Given the description of an element on the screen output the (x, y) to click on. 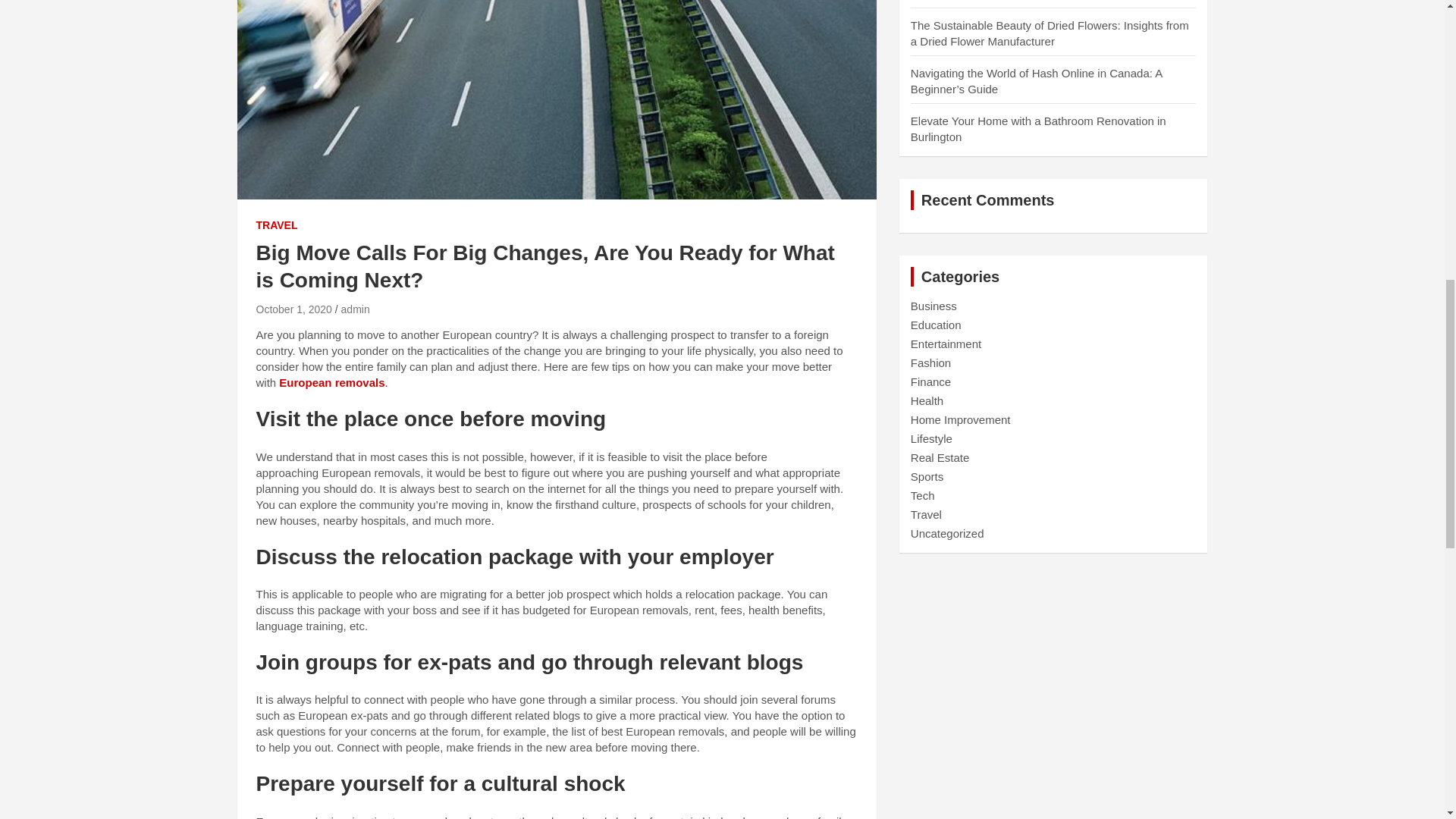
TRAVEL (277, 225)
October 1, 2020 (293, 309)
Education (935, 324)
European removals. (333, 382)
Elevate Your Home with a Bathroom Renovation in Burlington (1038, 128)
Fashion (930, 362)
Entertainment (946, 343)
Business (933, 305)
Finance (930, 381)
